Given the description of an element on the screen output the (x, y) to click on. 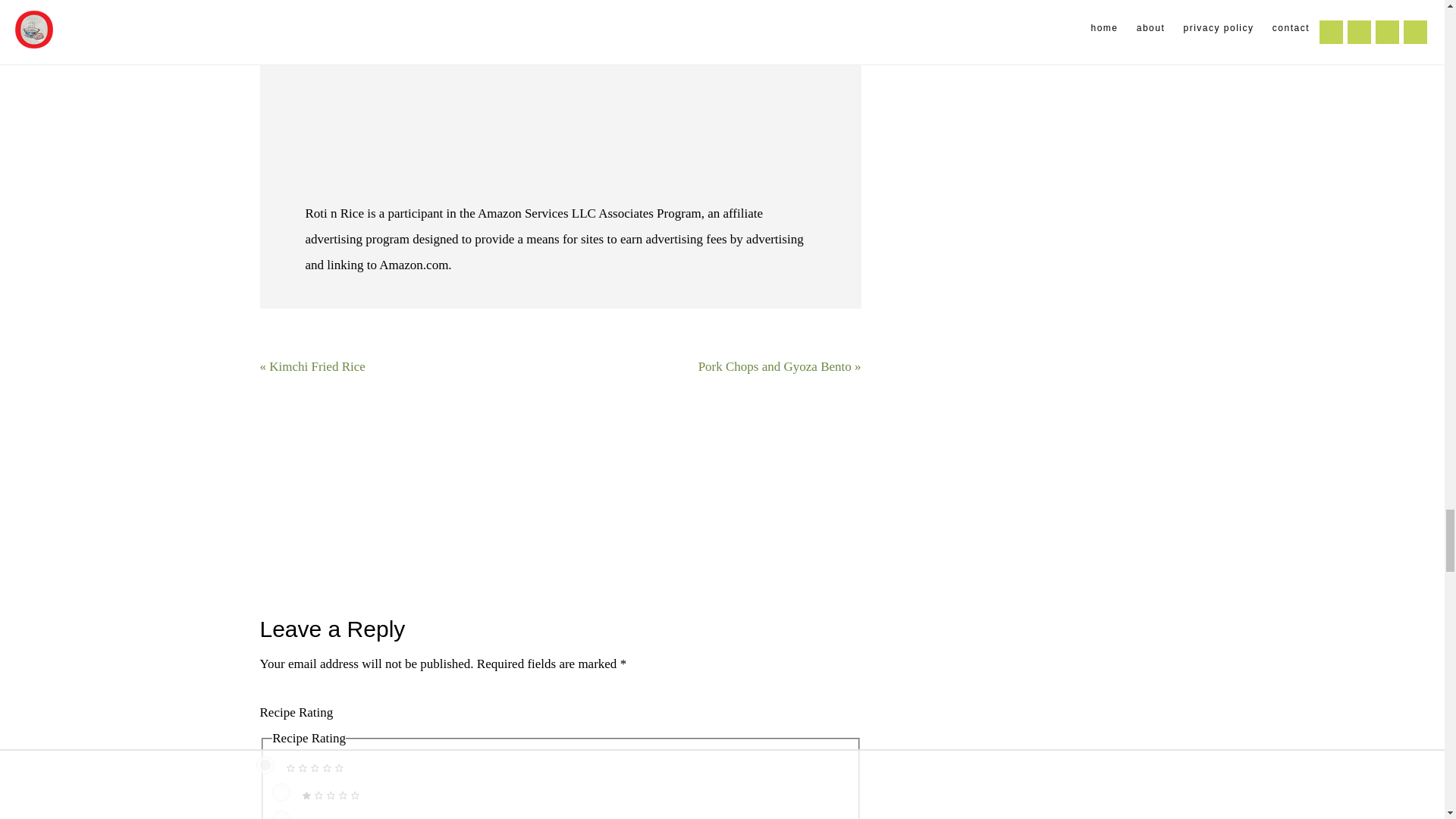
1 (280, 791)
0 (265, 764)
2 (280, 814)
